Given the description of an element on the screen output the (x, y) to click on. 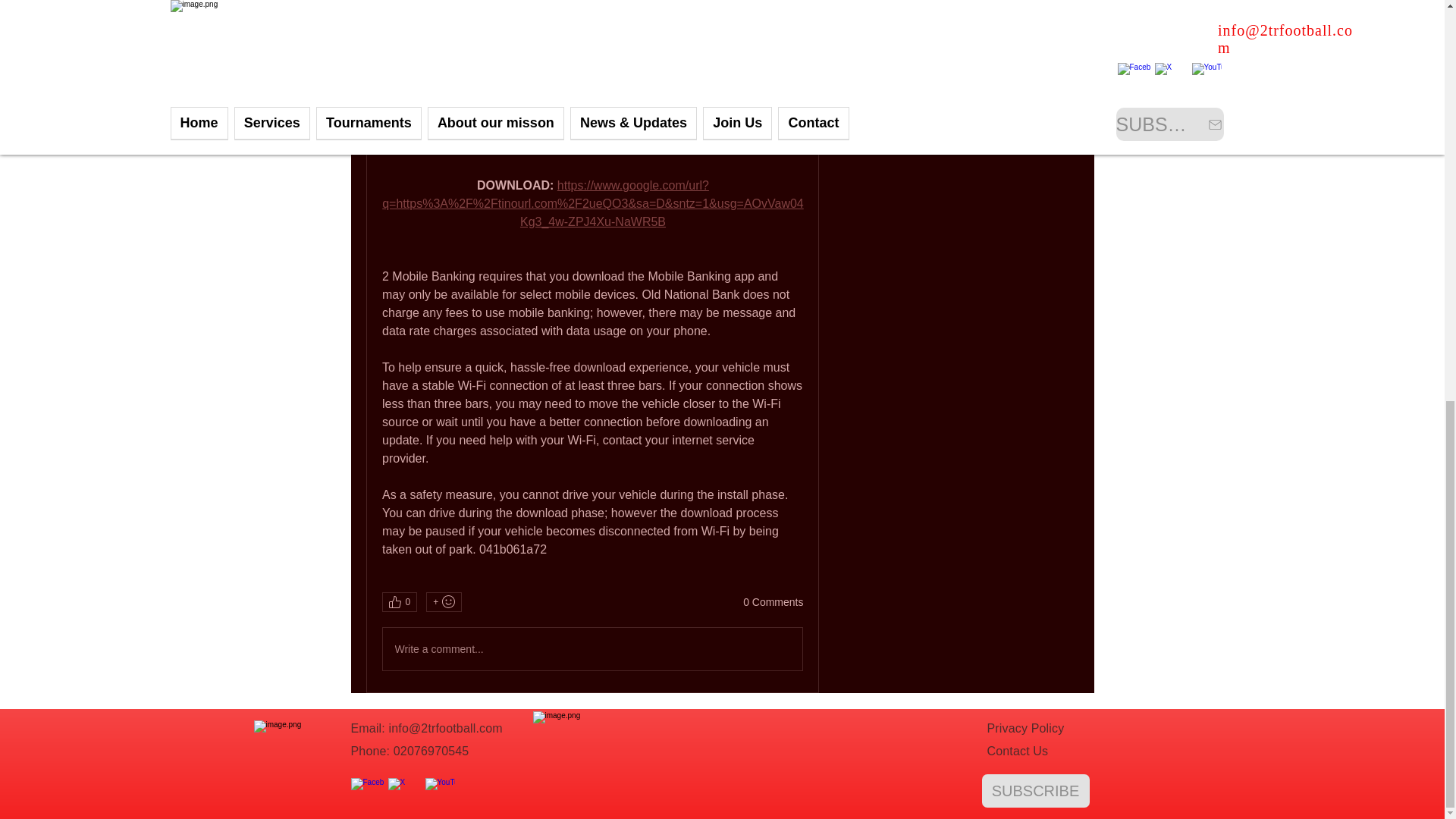
Luis Otero Nieto (930, 15)
andi-28.07 (863, 53)
Write a comment... (591, 649)
andi-28.07 (914, 52)
Luis Otero Nieto (863, 17)
0 Comments (772, 602)
